Given the description of an element on the screen output the (x, y) to click on. 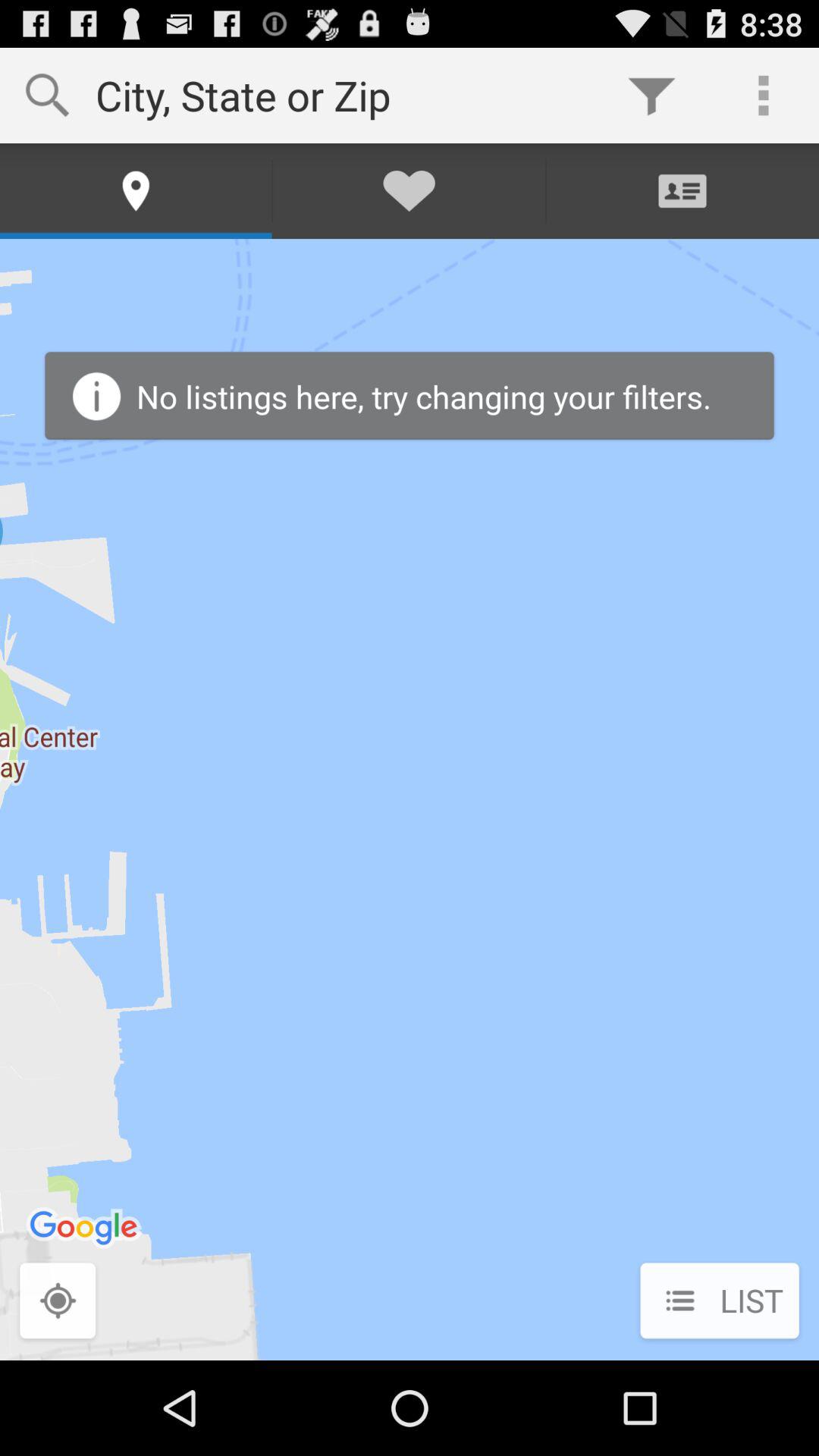
launch the list item (719, 1302)
